Given the description of an element on the screen output the (x, y) to click on. 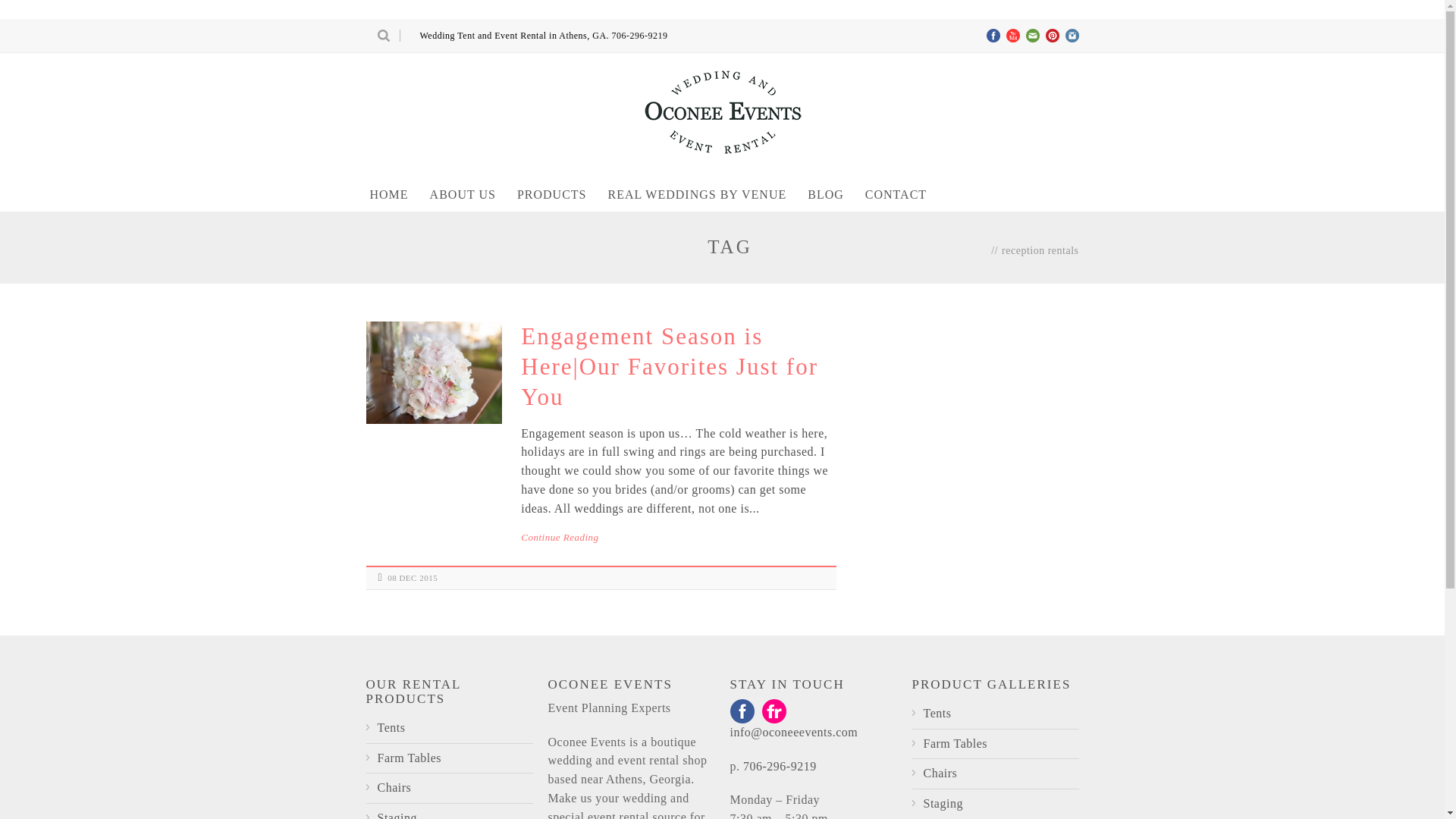
HOME (388, 194)
ABOUT US (462, 194)
BLOG (825, 194)
REAL WEDDINGS BY VENUE (697, 194)
706-296-9219 (639, 35)
Continue Reading (678, 537)
CONTACT (895, 194)
PRODUCTS (552, 194)
08 DEC 2015 (412, 577)
